Given the description of an element on the screen output the (x, y) to click on. 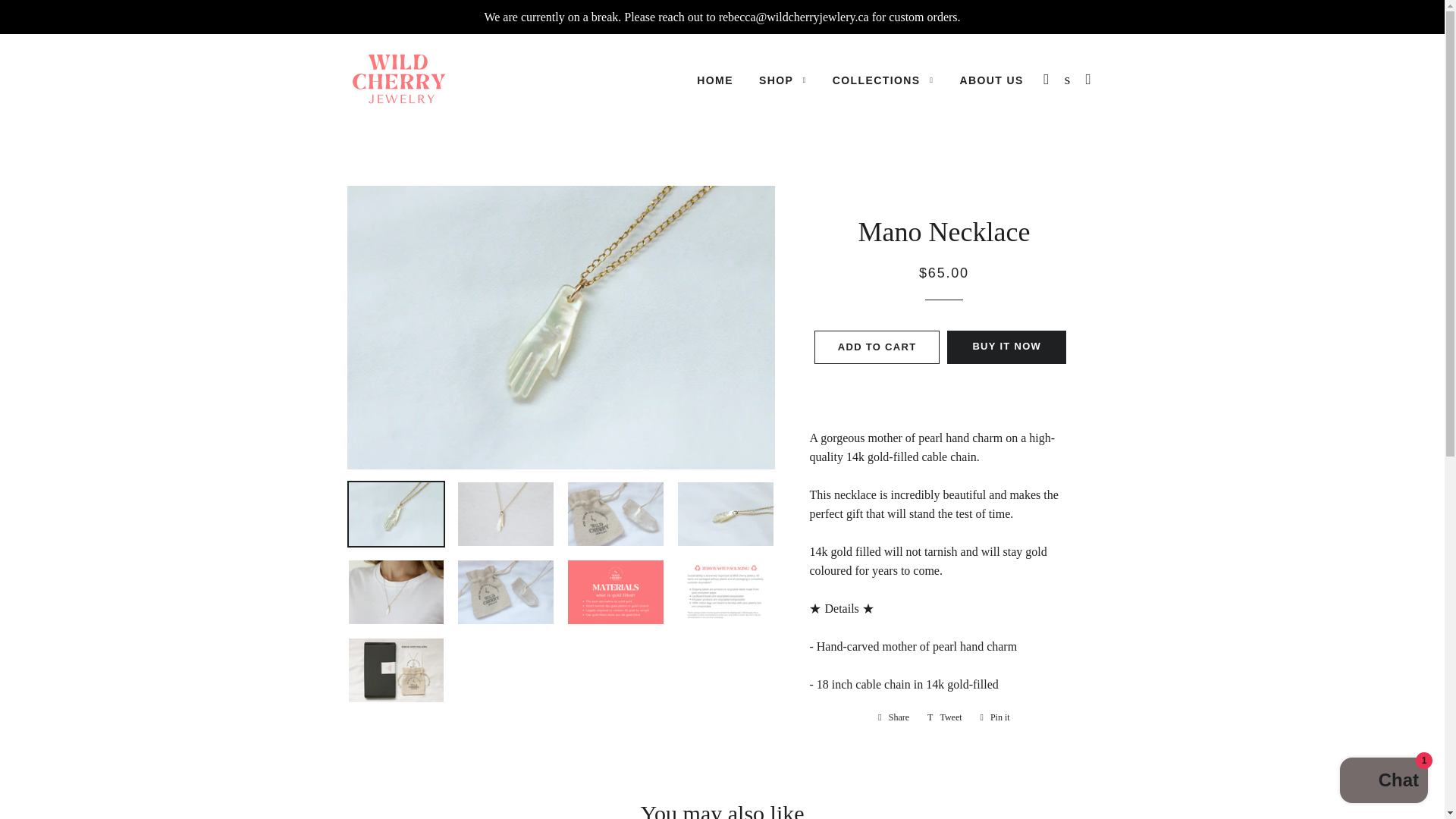
Shopify online store chat (1383, 781)
Share on Facebook (893, 717)
Pin on Pinterest (994, 717)
Tweet on Twitter (944, 717)
COLLECTIONS (882, 80)
SHOP (783, 80)
HOME (714, 80)
